Given the description of an element on the screen output the (x, y) to click on. 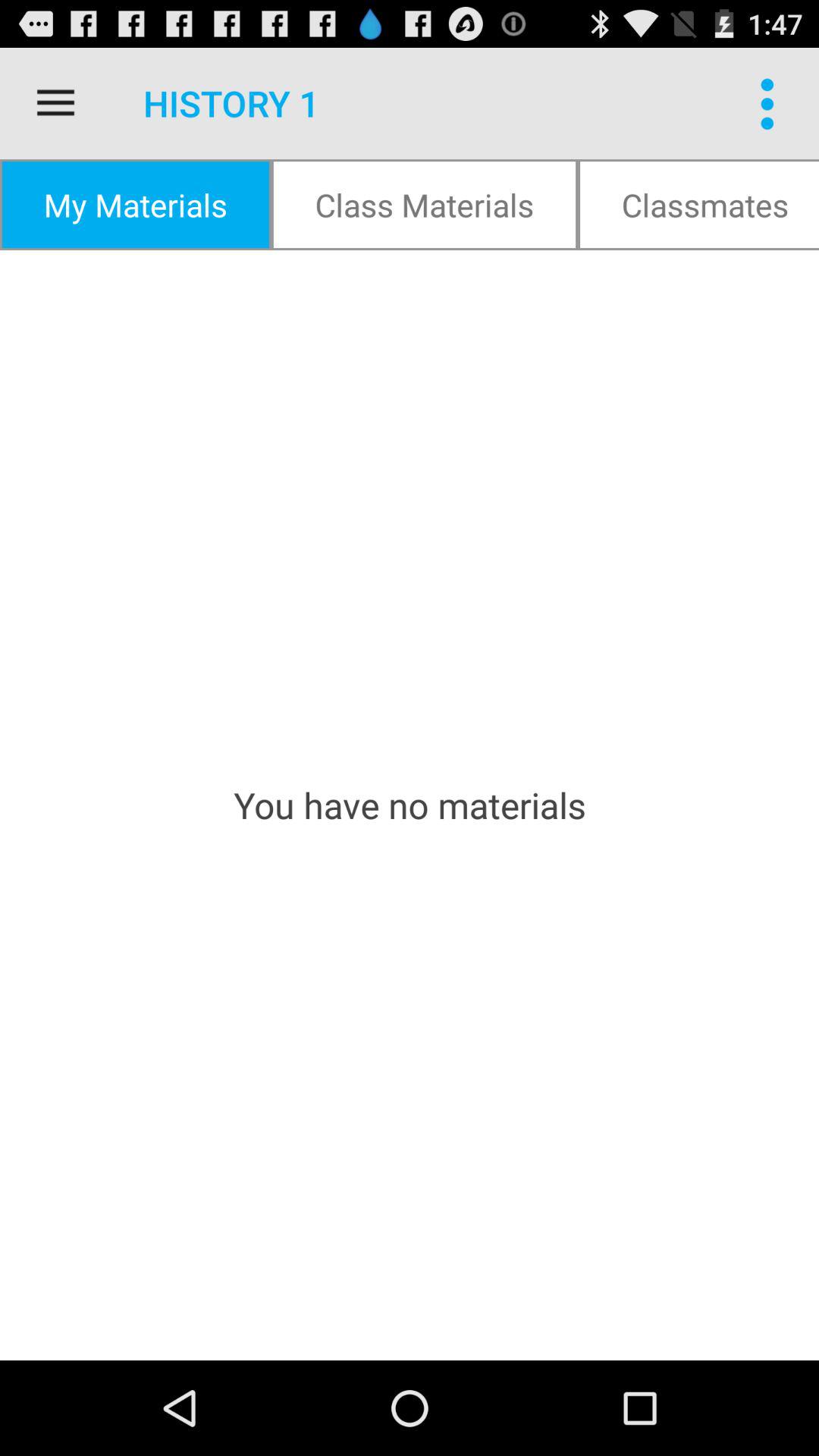
launch icon to the right of my materials item (424, 204)
